Given the description of an element on the screen output the (x, y) to click on. 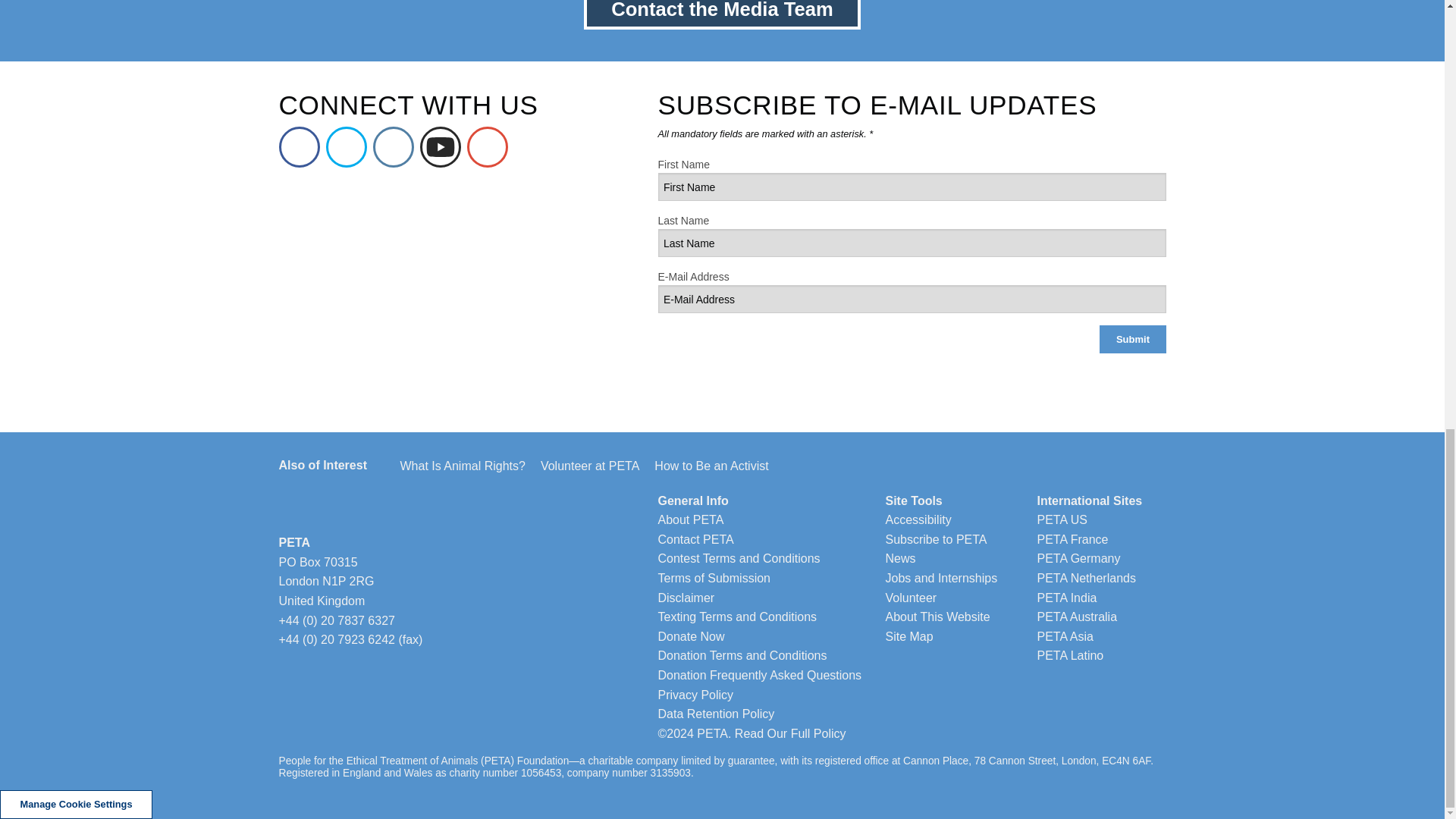
Submit (1132, 338)
